Given the description of an element on the screen output the (x, y) to click on. 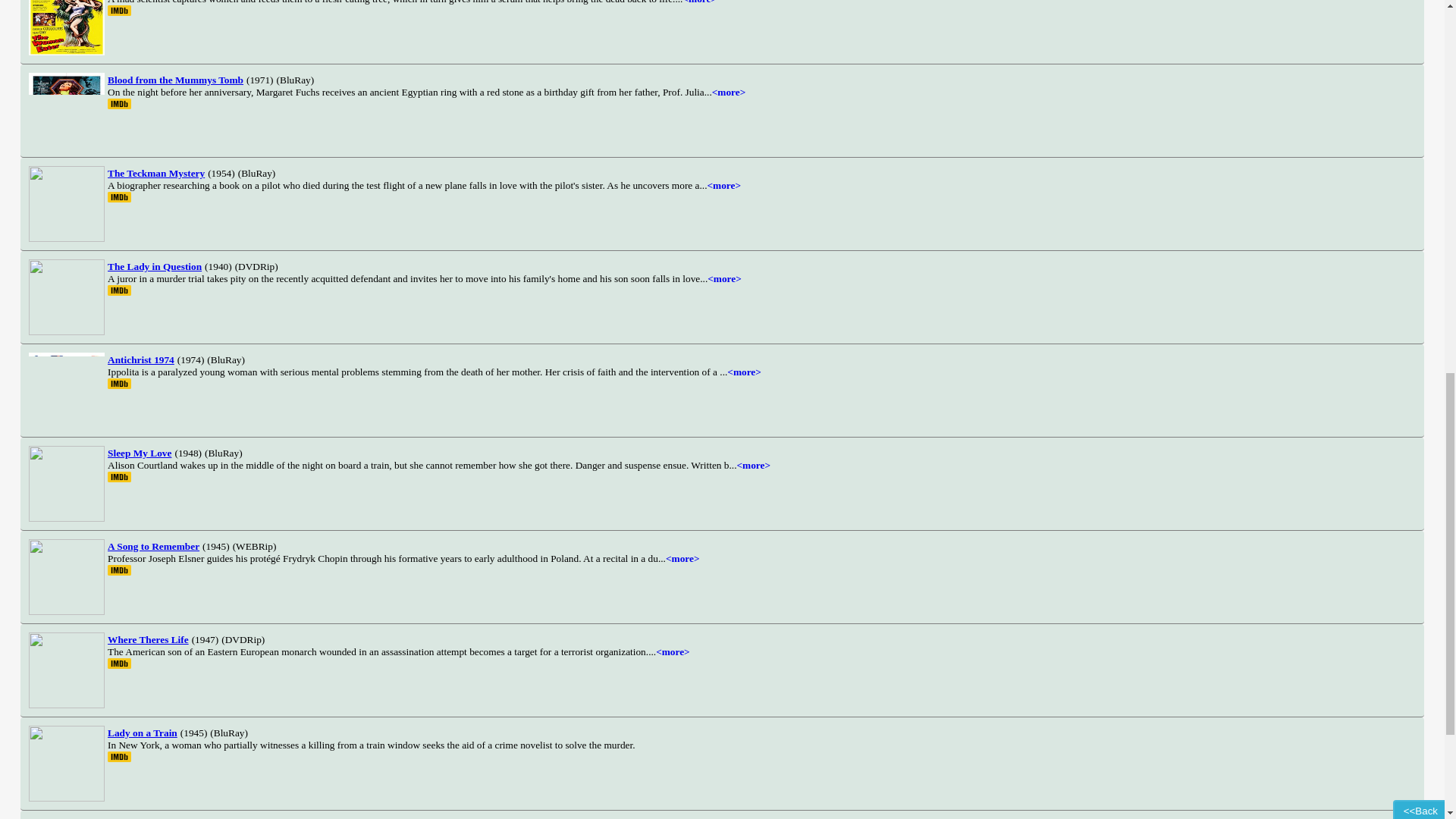
The Teckman Mystery (156, 172)
The Lady in Question (154, 265)
Blood from the Mummys Tomb (175, 78)
Antichrist 1974 (140, 358)
